Given the description of an element on the screen output the (x, y) to click on. 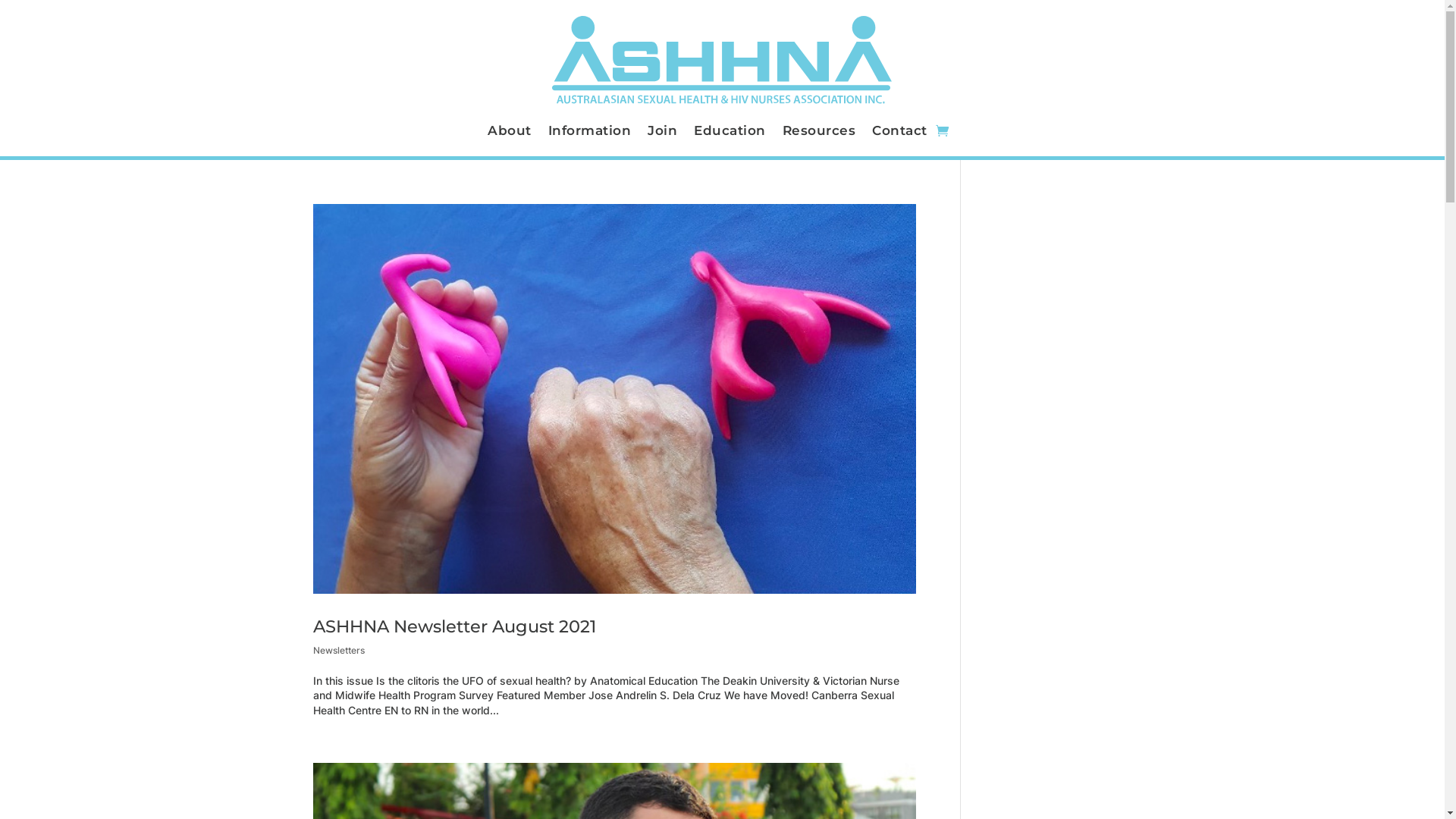
Resources Element type: text (819, 133)
About Element type: text (509, 133)
ASHHNA Newsletter August 2021 Element type: text (453, 626)
Education Element type: text (729, 133)
blue_5 Element type: hover (314, 158)
ASHHNA-Logo Element type: hover (722, 62)
Join Element type: text (662, 133)
Newsletters Element type: text (338, 649)
Information Element type: text (589, 133)
Contact Element type: text (899, 133)
